Given the description of an element on the screen output the (x, y) to click on. 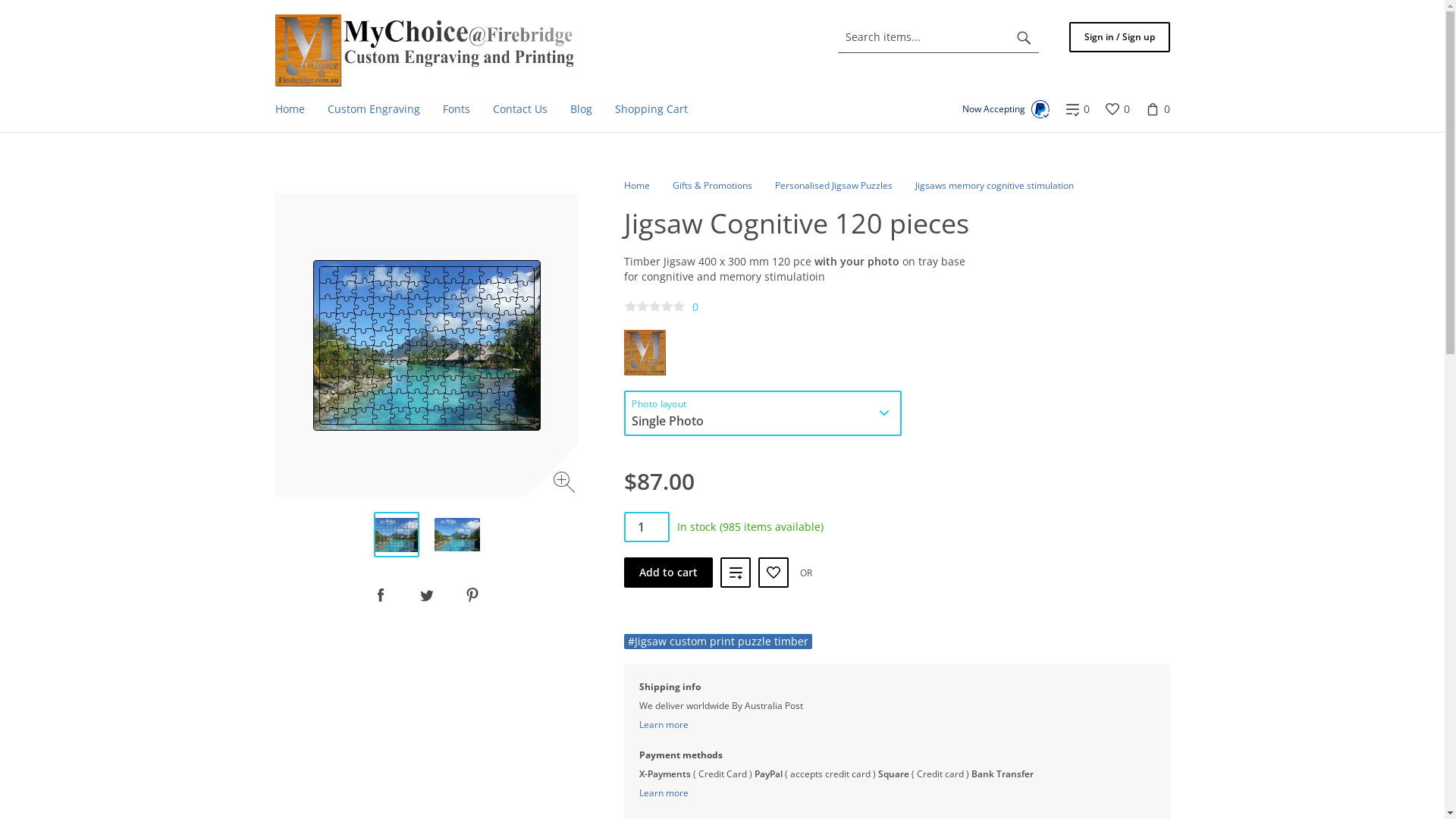
#Jigsaw custom print puzzle timber Element type: text (717, 641)
Blog Element type: text (580, 108)
Add to cart Element type: text (667, 572)
Home Element type: text (289, 108)
Learn more Element type: text (662, 724)
Search Element type: hover (1023, 36)
Jigsaws memory cognitive stimulation Element type: text (993, 184)
Sign in / Sign up Element type: text (1119, 36)
Fonts Element type: text (455, 108)
Custom Engraving Element type: text (372, 108)
Home Element type: text (636, 184)
Gifts & Promotions Element type: text (711, 184)
120 pce timber jigsaw on frame with base Element type: hover (456, 534)
Quantity Element type: hover (645, 526)
0 Element type: text (1116, 108)
1 Element type: text (645, 526)
Contact Us Element type: text (519, 108)
Shopping Cart Element type: text (651, 108)
Learn more Element type: text (662, 792)
0 Element type: text (1076, 108)
My Choice Logo Element type: hover (423, 50)
Personalised Jigsaw Puzzles Element type: text (833, 184)
